Given the description of an element on the screen output the (x, y) to click on. 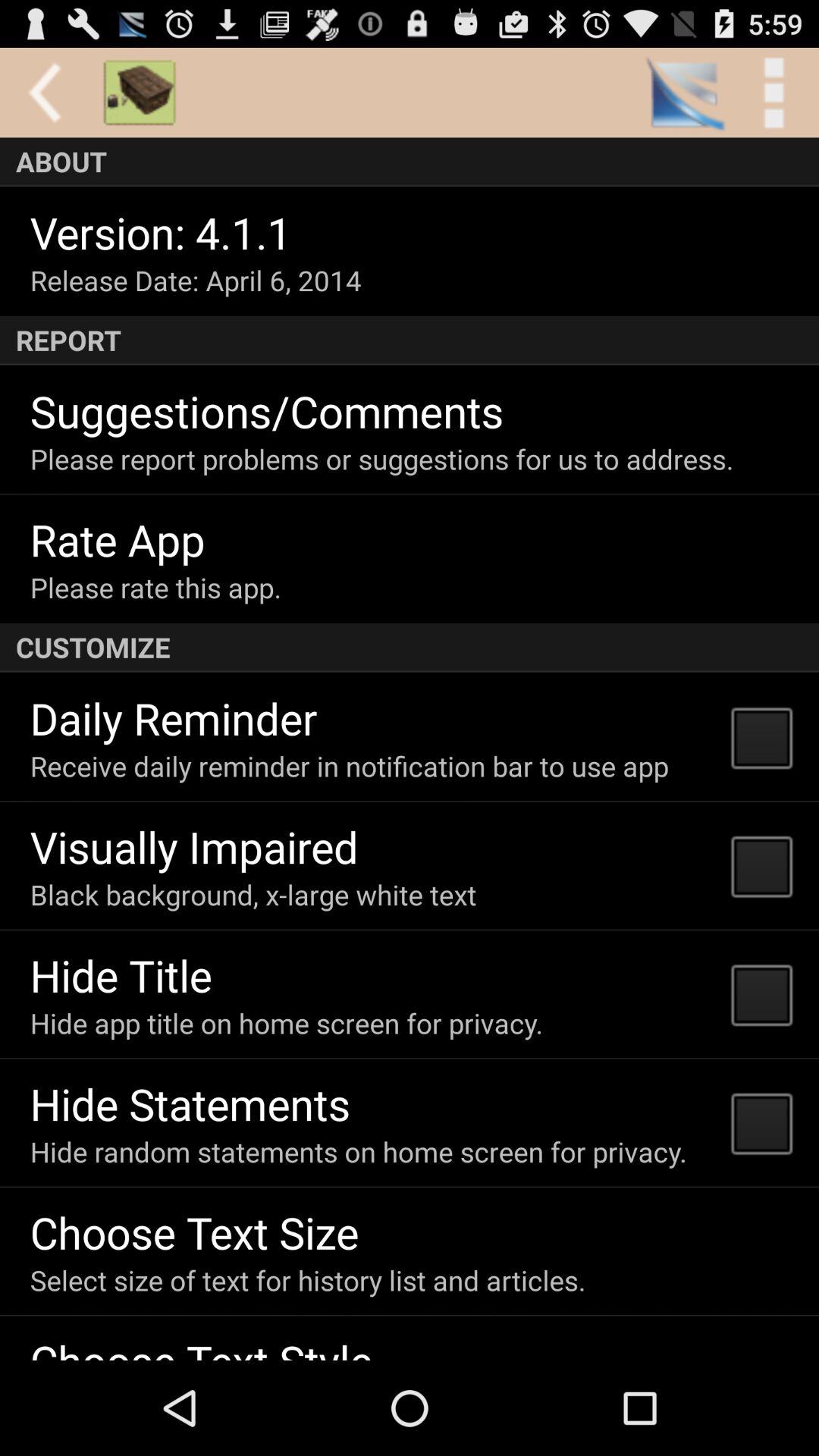
click item below the about app (160, 232)
